Given the description of an element on the screen output the (x, y) to click on. 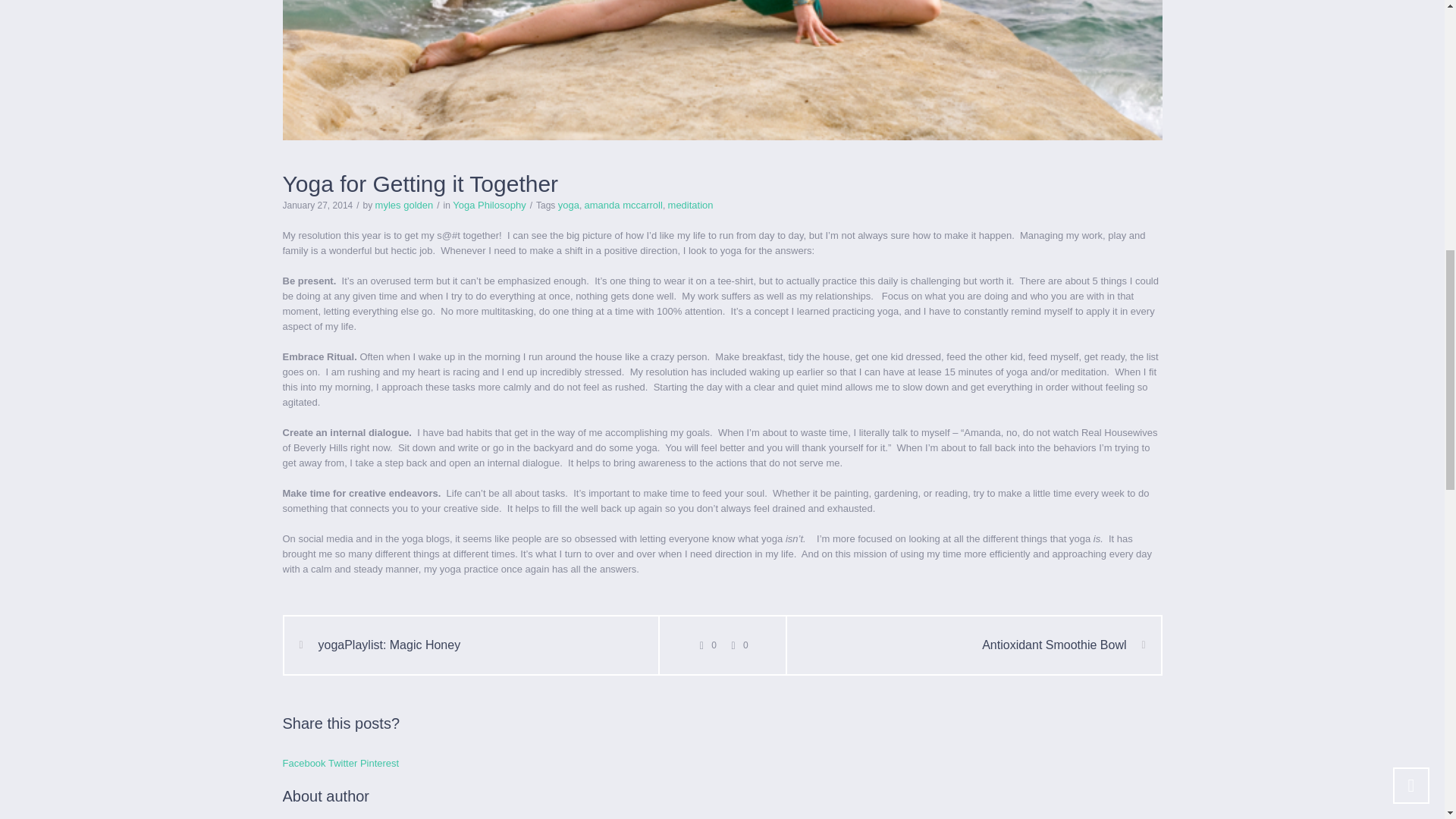
0 (705, 645)
Yoga Philosophy (488, 204)
meditation (690, 204)
Antioxidant Smoothie Bowl (1062, 645)
0 (738, 645)
Yoga for Getting it Together (721, 70)
January 27, 2014 (317, 205)
yoga (568, 204)
Comment on Yoga for Getting it Together (705, 645)
Posts by myles golden (404, 204)
